Given the description of an element on the screen output the (x, y) to click on. 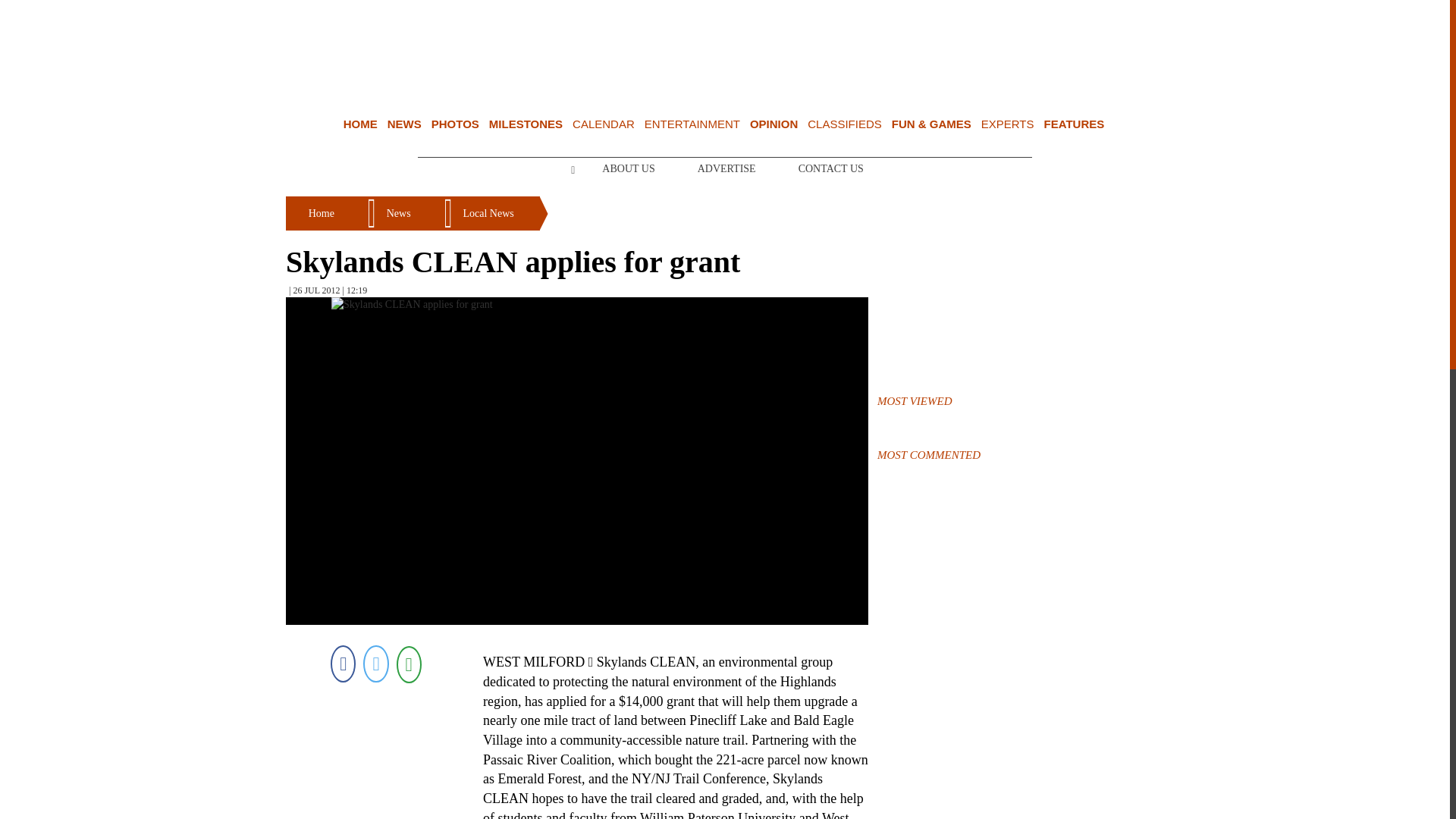
FEATURES (1074, 123)
Milestones (525, 123)
NEWS (404, 123)
CLASSIFIEDS (845, 123)
Home (360, 123)
MILESTONES (525, 123)
PHOTOS (454, 123)
HOME (360, 123)
EXPERTS (1007, 123)
CALENDAR (603, 123)
